Given the description of an element on the screen output the (x, y) to click on. 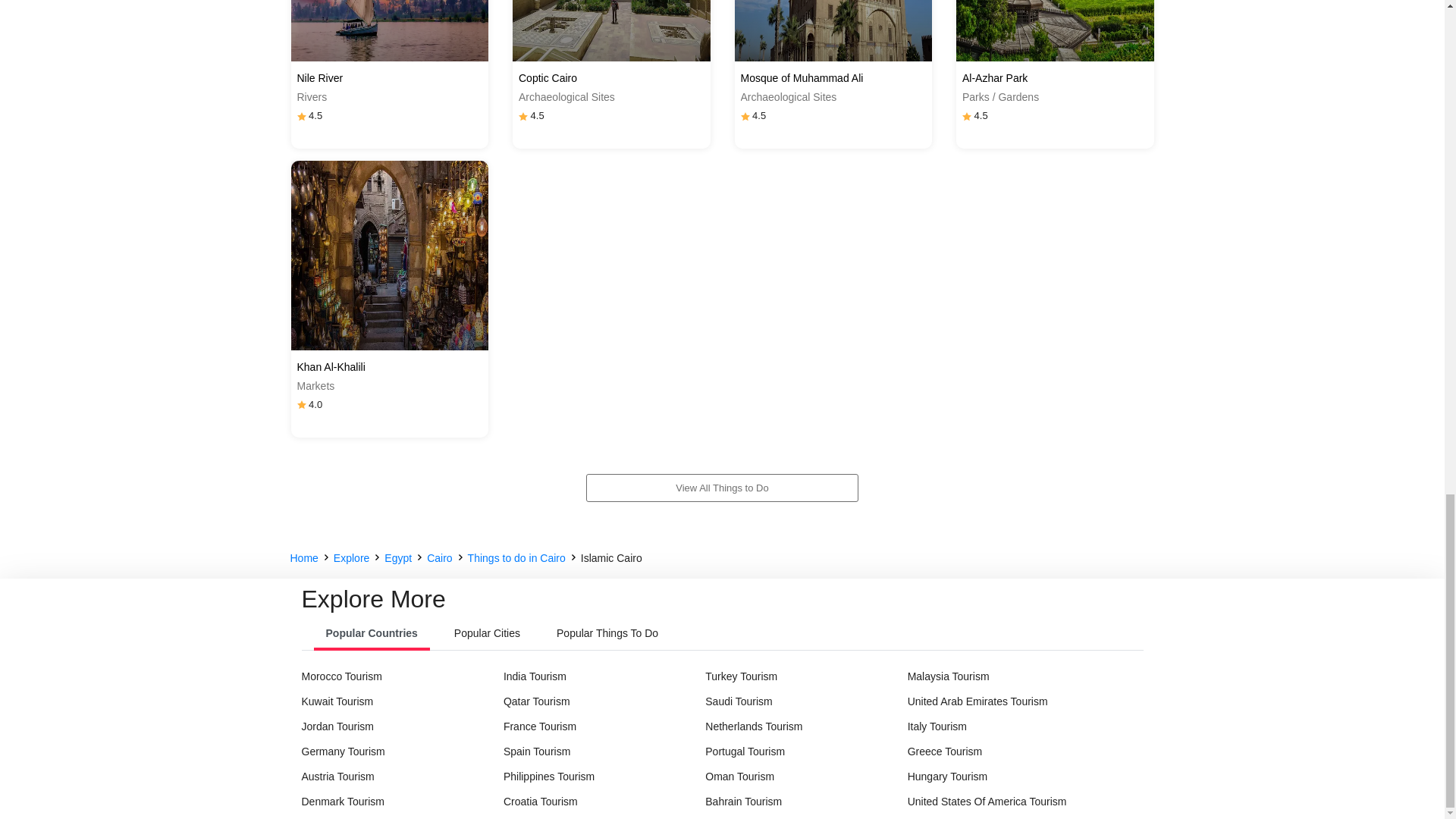
Cairo (438, 558)
Explore Mosque of Muhammad Ali  (832, 30)
Home (303, 558)
Explore Al-Azhar Park  (1055, 30)
Khan Al-Khalili (390, 367)
Archaeological Sites (611, 97)
Egypt (398, 558)
Archaeological Sites (832, 97)
Explore (351, 558)
Explore Nile River  (390, 30)
View All Things to Do (722, 492)
Nile River (390, 78)
View All Things to Do (722, 488)
Rivers (390, 97)
Things to do in Cairo (516, 558)
